Given the description of an element on the screen output the (x, y) to click on. 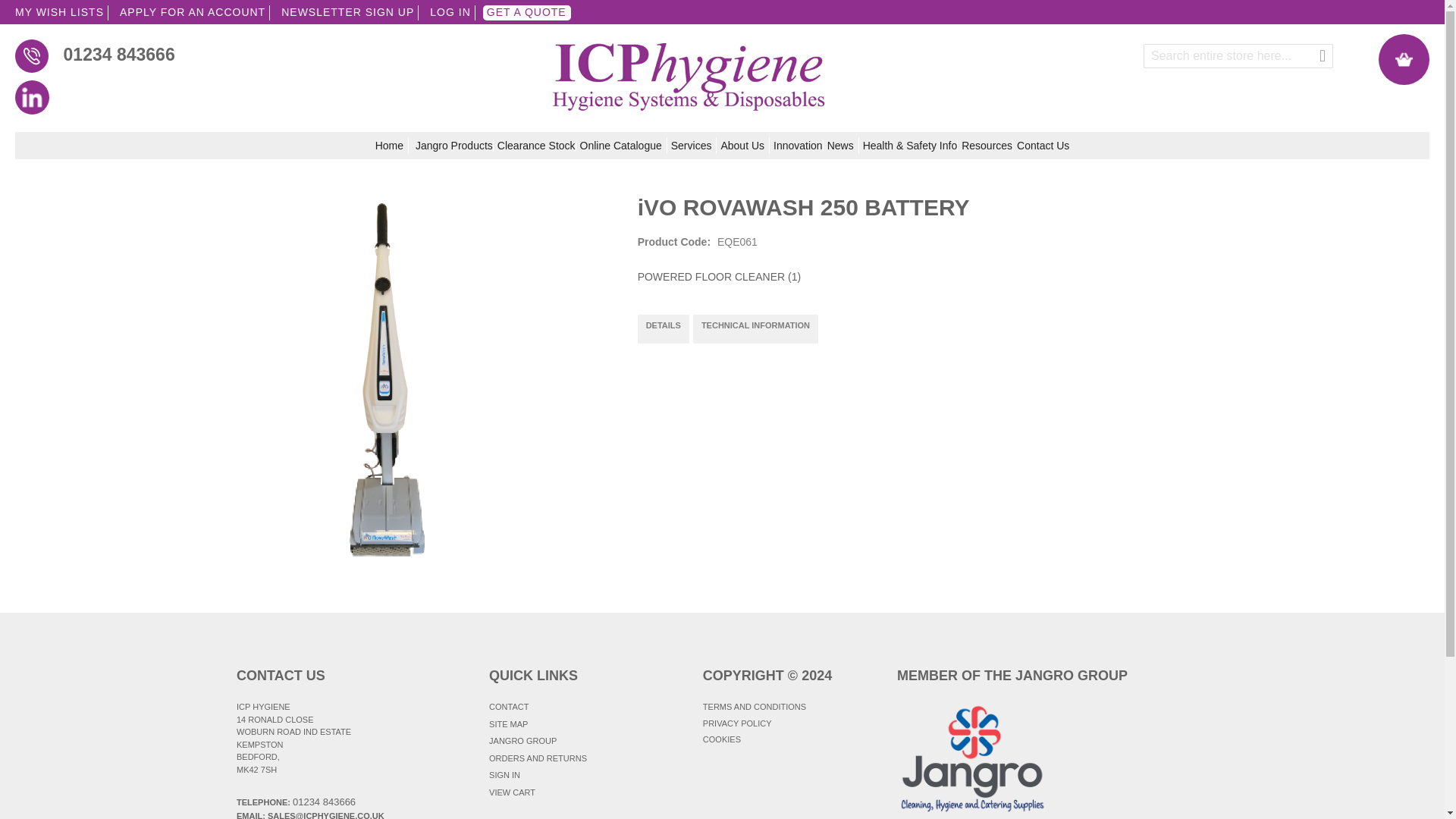
Jangro - Cleaning, Hygiene and Catering Supplies (689, 68)
My Quote (1403, 59)
NEWSLETTER SIGN UP (348, 12)
APPLY FOR AN ACCOUNT (192, 12)
Services (694, 145)
Clearance Stock (536, 145)
Jangro Products (453, 145)
Jangro - Cleaning, Hygiene and Catering Supplies (688, 76)
MY WISH LISTS (59, 12)
Home (392, 145)
Online Catalogue (622, 145)
01234 843666 (234, 54)
GET A QUOTE (526, 12)
LOG IN (450, 12)
